Given the description of an element on the screen output the (x, y) to click on. 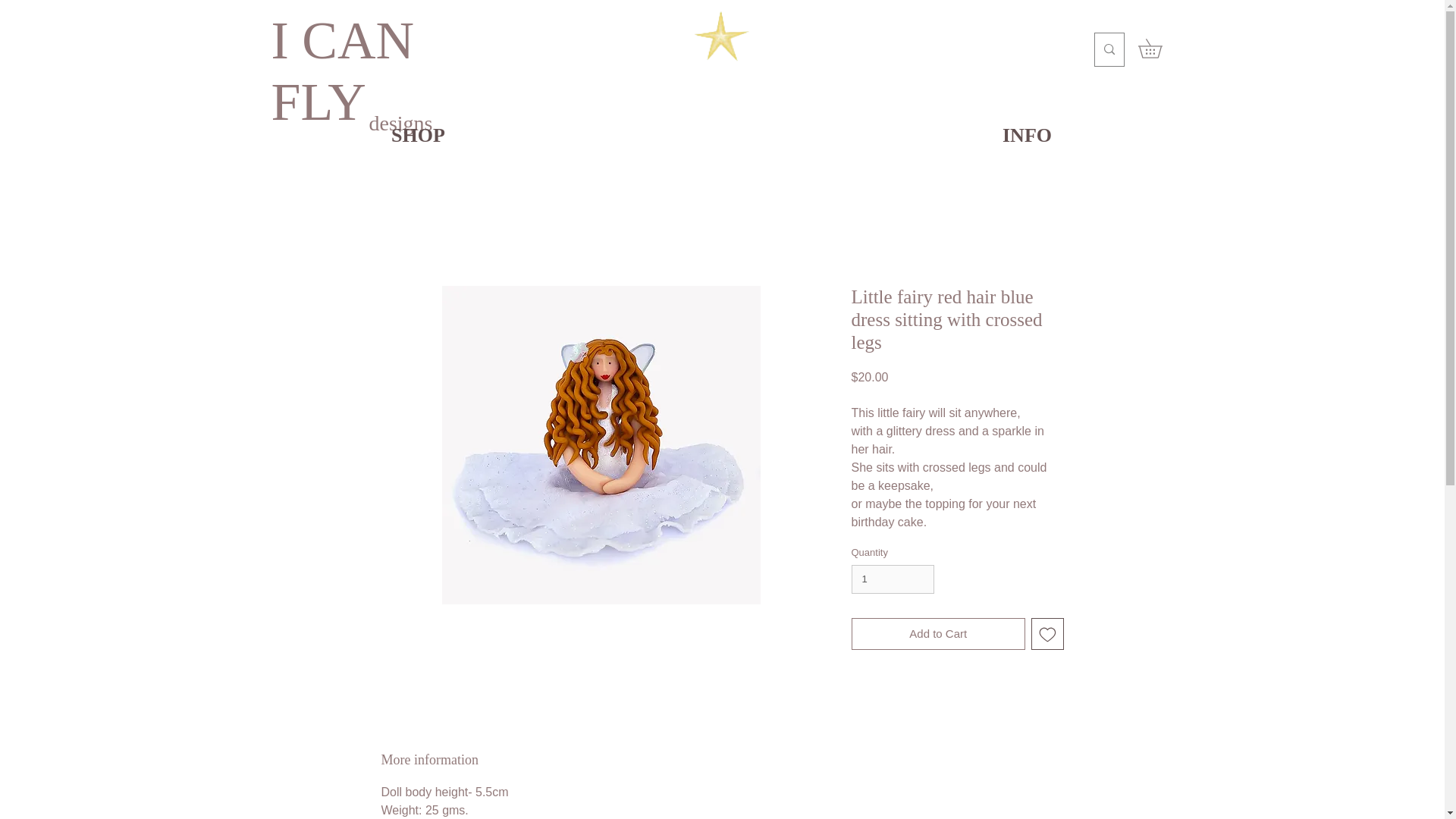
A hand drawn yellow star  (721, 34)
1 (891, 579)
Add to Cart (937, 634)
